Given the description of an element on the screen output the (x, y) to click on. 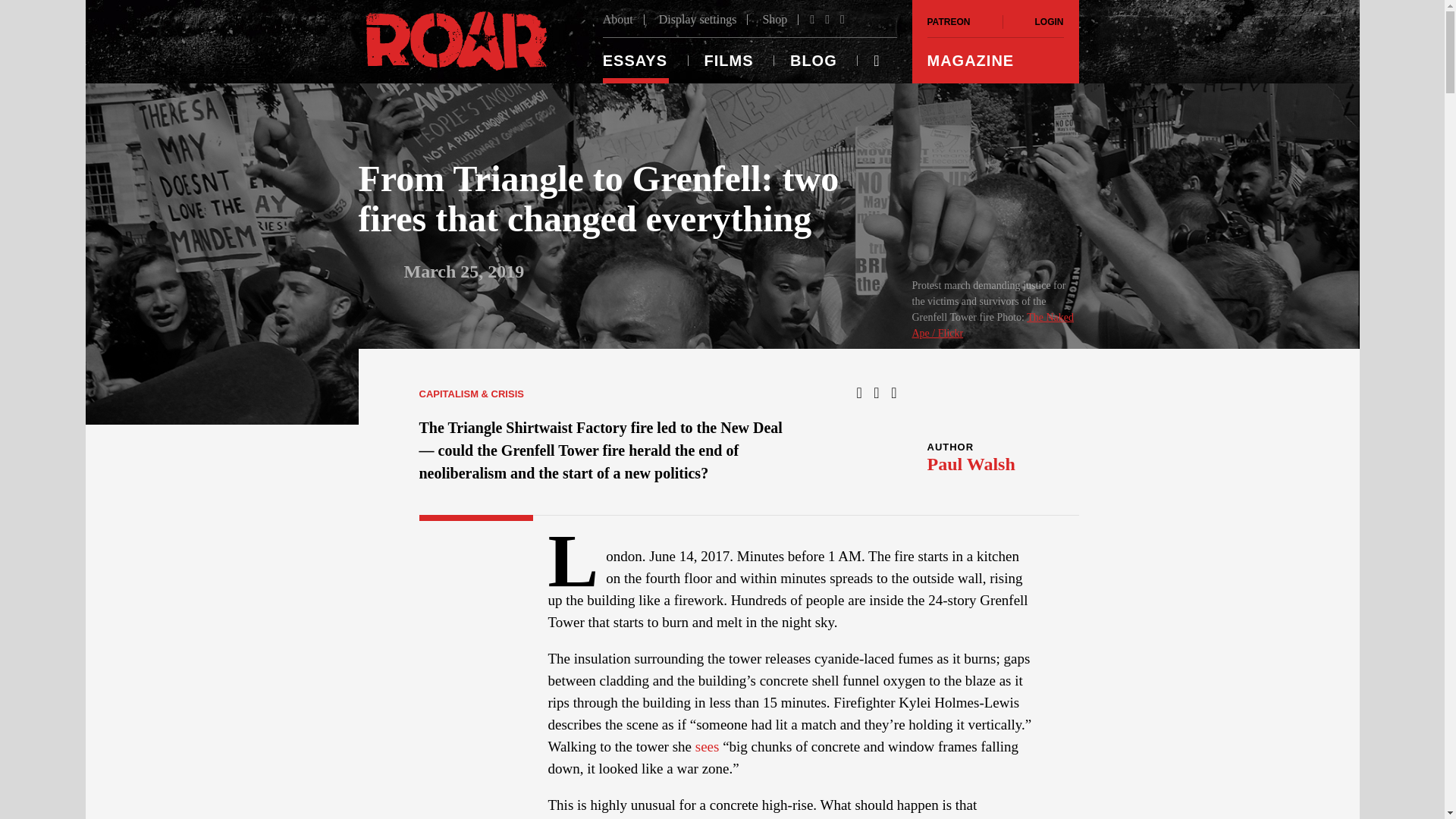
BLOG (813, 60)
About (623, 19)
ESSAYS (643, 60)
FILMS (728, 60)
MAGAZINE (994, 60)
Paul Walsh (970, 464)
Search (25, 9)
Shop (774, 19)
Display settings (697, 19)
LOGIN (1033, 21)
PATREON (963, 21)
